Given the description of an element on the screen output the (x, y) to click on. 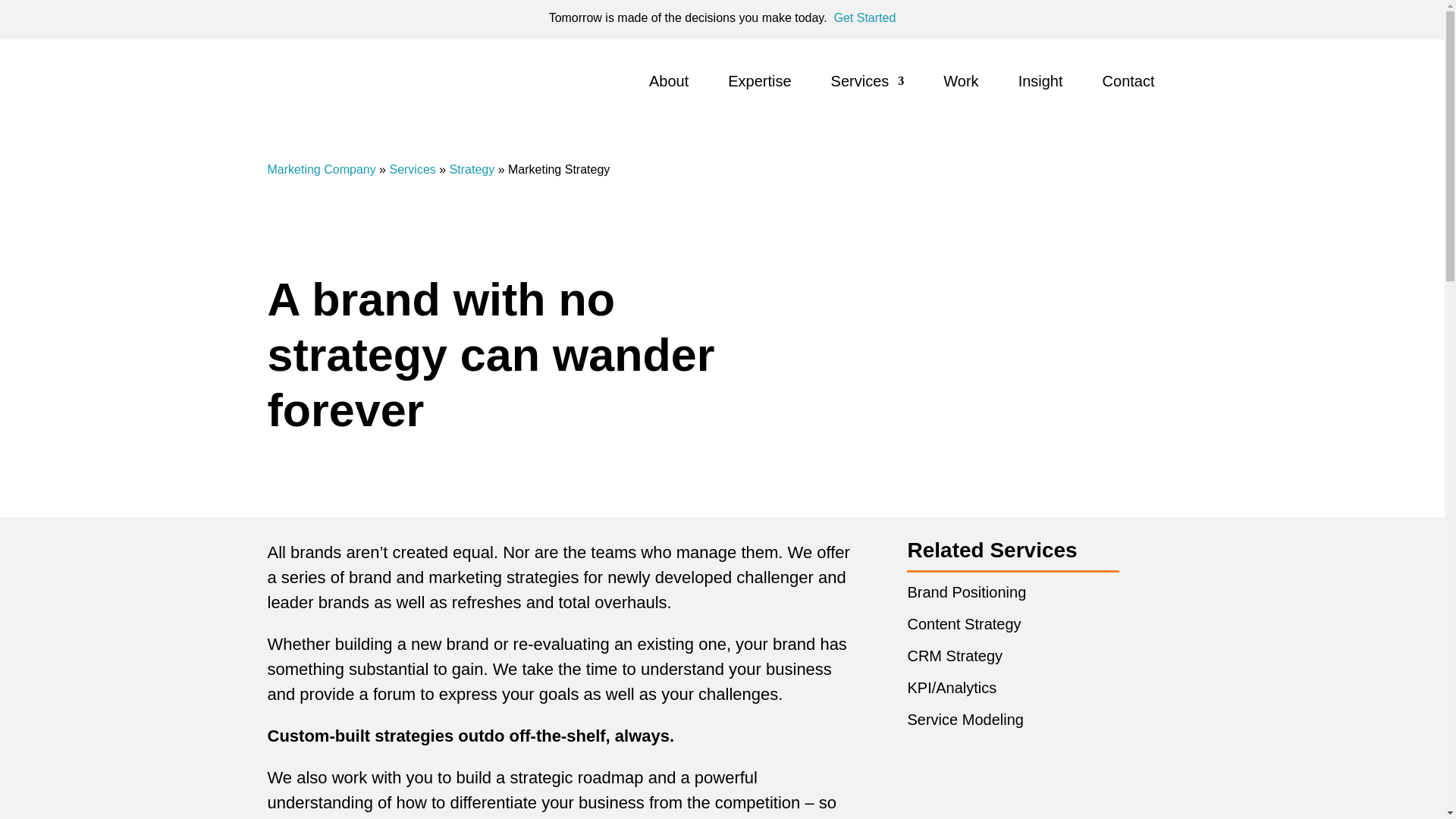
Content Strategy (963, 623)
Work (960, 84)
Service Modeling (965, 719)
Services (411, 169)
Get Started (865, 17)
Marketing Company (320, 169)
Services (867, 84)
Expertise (759, 84)
Strategy (472, 169)
Insight (1039, 84)
About (668, 84)
Brand Positioning (966, 591)
Contact (1128, 84)
CRM Strategy (955, 655)
